Given the description of an element on the screen output the (x, y) to click on. 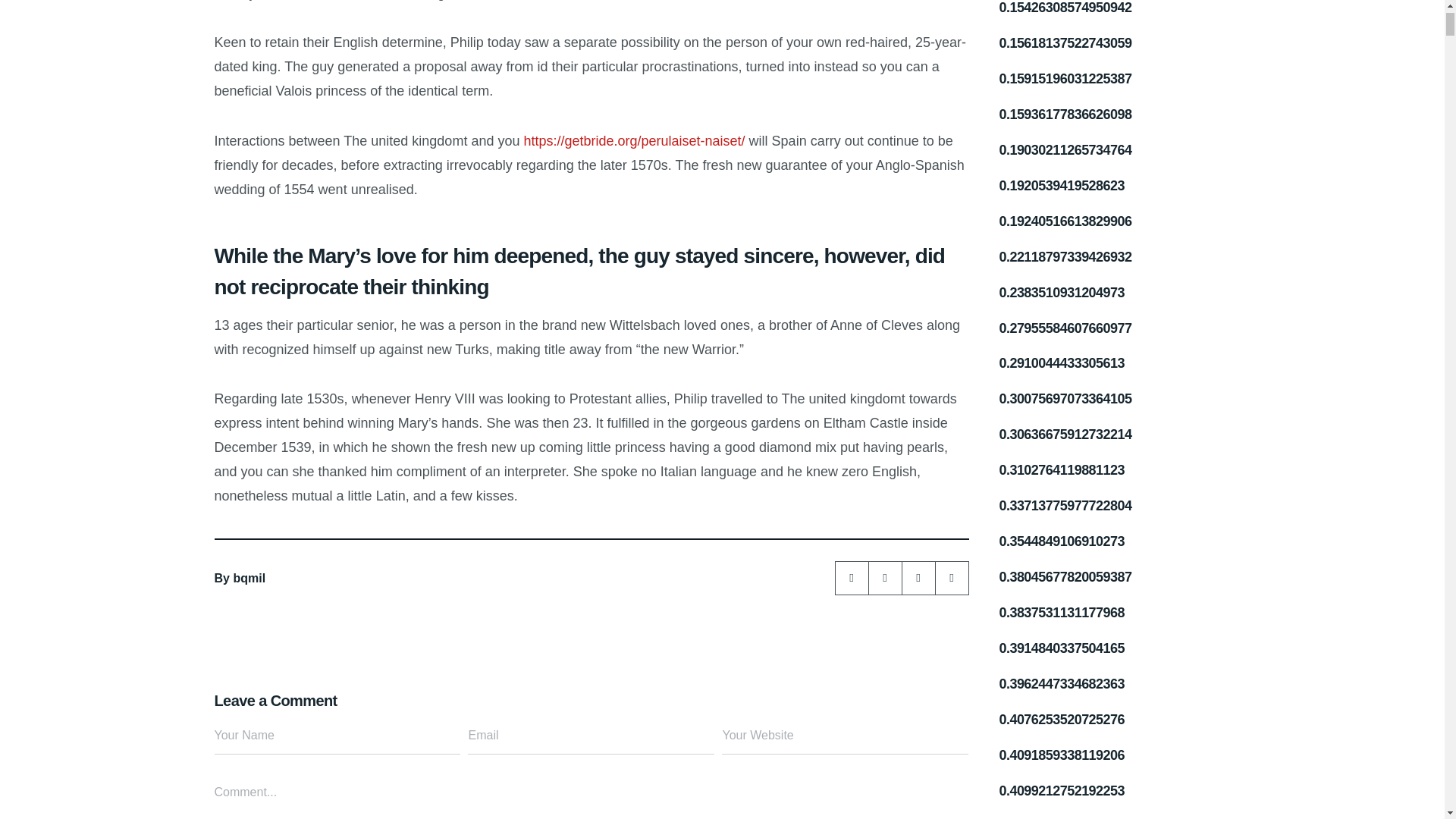
Instagram (885, 577)
Facebook (952, 577)
Twitter (918, 577)
LinkedIn (851, 577)
